Given the description of an element on the screen output the (x, y) to click on. 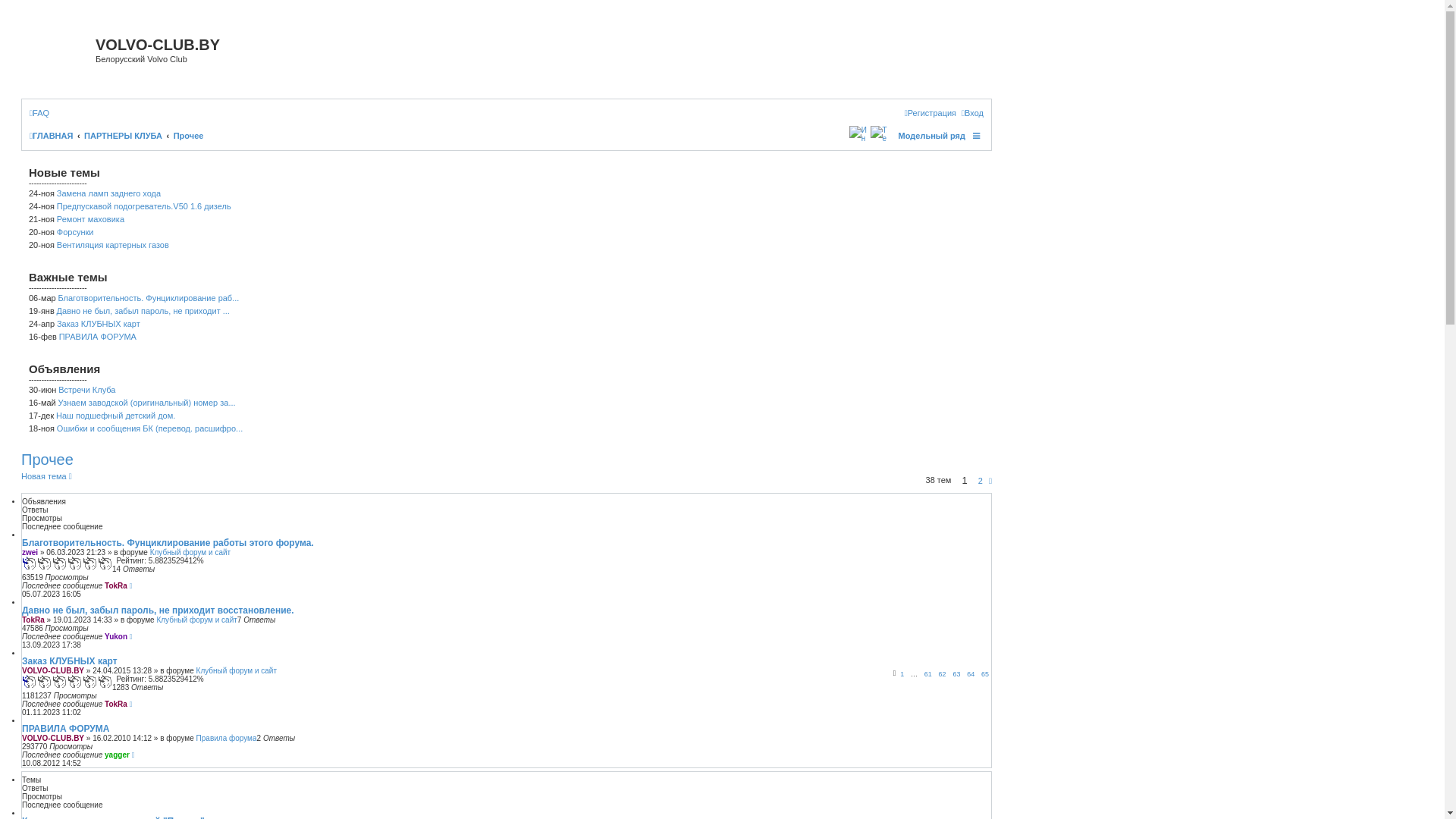
 Instagram Element type: hover (854, 134)
Telegram Element type: hover (879, 134)
TokRa Element type: text (115, 703)
VOLVO-CLUB.BY Element type: text (52, 670)
63 Element type: text (956, 673)
1 Element type: text (901, 673)
65 Element type: text (985, 673)
2 Element type: text (980, 480)
64 Element type: text (970, 673)
Yukon Element type: text (115, 636)
TokRa Element type: text (115, 585)
TokRa Element type: text (32, 619)
61 Element type: text (928, 673)
62 Element type: text (942, 673)
VOLVO-CLUB.BY Element type: text (52, 738)
yagger Element type: text (116, 754)
zwei Element type: text (29, 552)
FAQ Element type: text (39, 112)
